Given the description of an element on the screen output the (x, y) to click on. 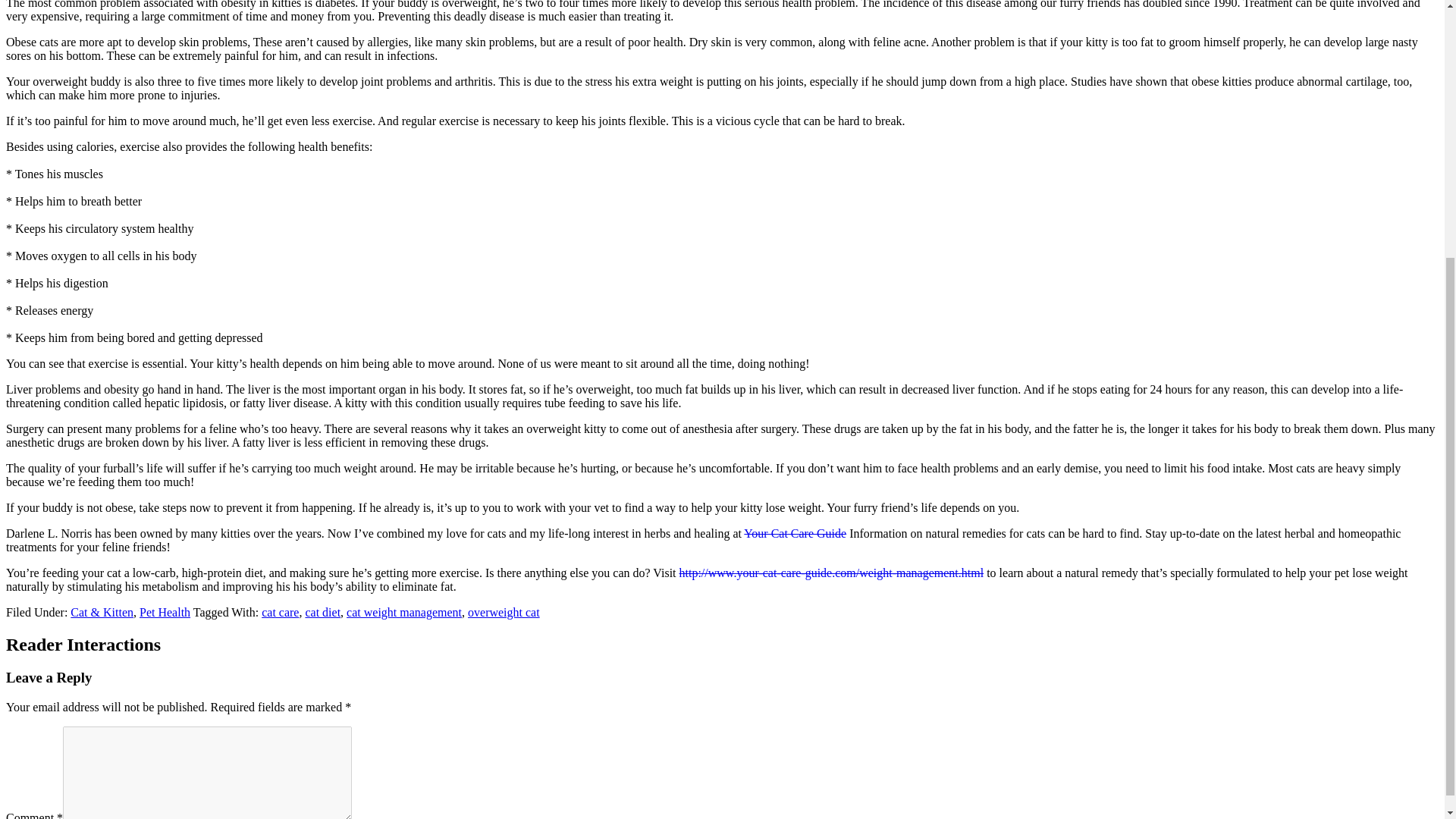
Pet Health (164, 612)
overweight cat (503, 612)
cat care (280, 612)
cat diet (322, 612)
Your Cat Care Guide (794, 533)
cat weight management (403, 612)
